Given the description of an element on the screen output the (x, y) to click on. 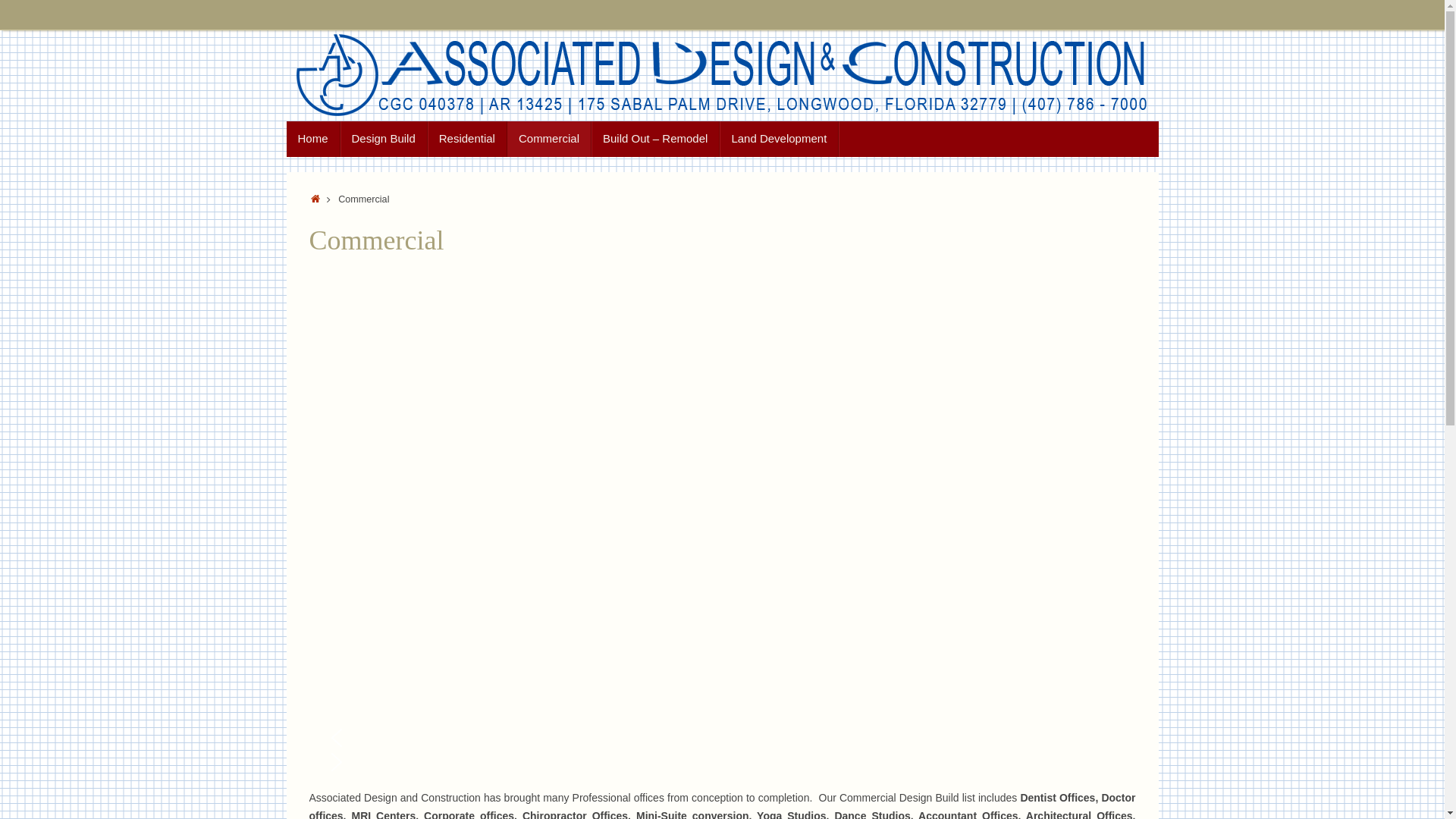
Land Development Element type: text (778, 138)
Home Element type: text (316, 199)
Commercial Element type: text (549, 138)
Design Build Element type: text (383, 138)
Skip to content Element type: text (285, 144)
Home Element type: text (313, 138)
Residential Element type: text (467, 138)
